Given the description of an element on the screen output the (x, y) to click on. 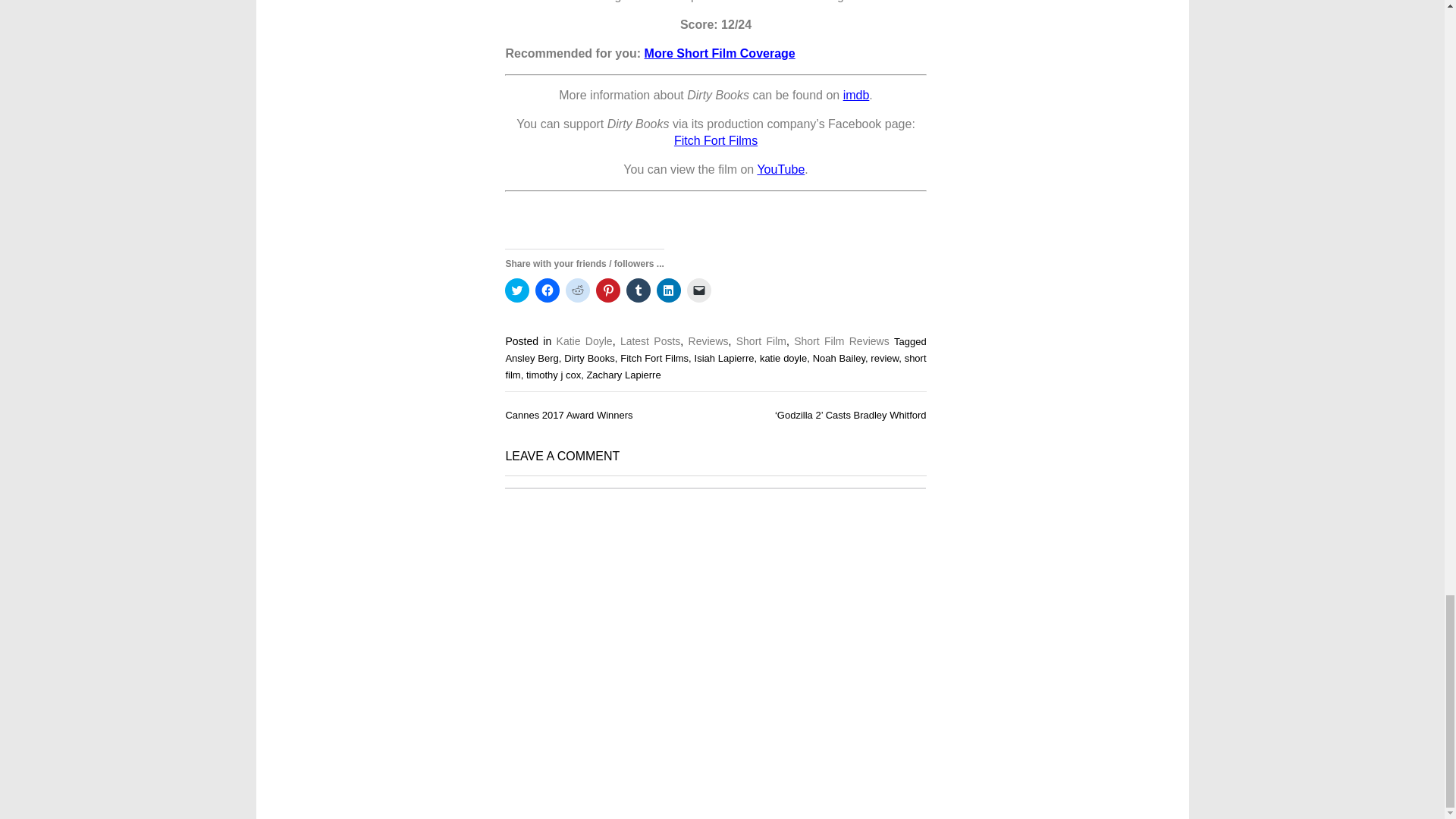
imdb (856, 94)
Click to share on Pinterest (607, 290)
More Short Film Coverage (719, 52)
Click to share on Facebook (547, 290)
YouTube (781, 169)
Click to share on Twitter (517, 290)
Click to share on Reddit (577, 290)
Click to share on LinkedIn (668, 290)
Click to email a link to a friend (699, 290)
Fitch Fort Films (715, 140)
Click to share on Tumblr (638, 290)
